Given the description of an element on the screen output the (x, y) to click on. 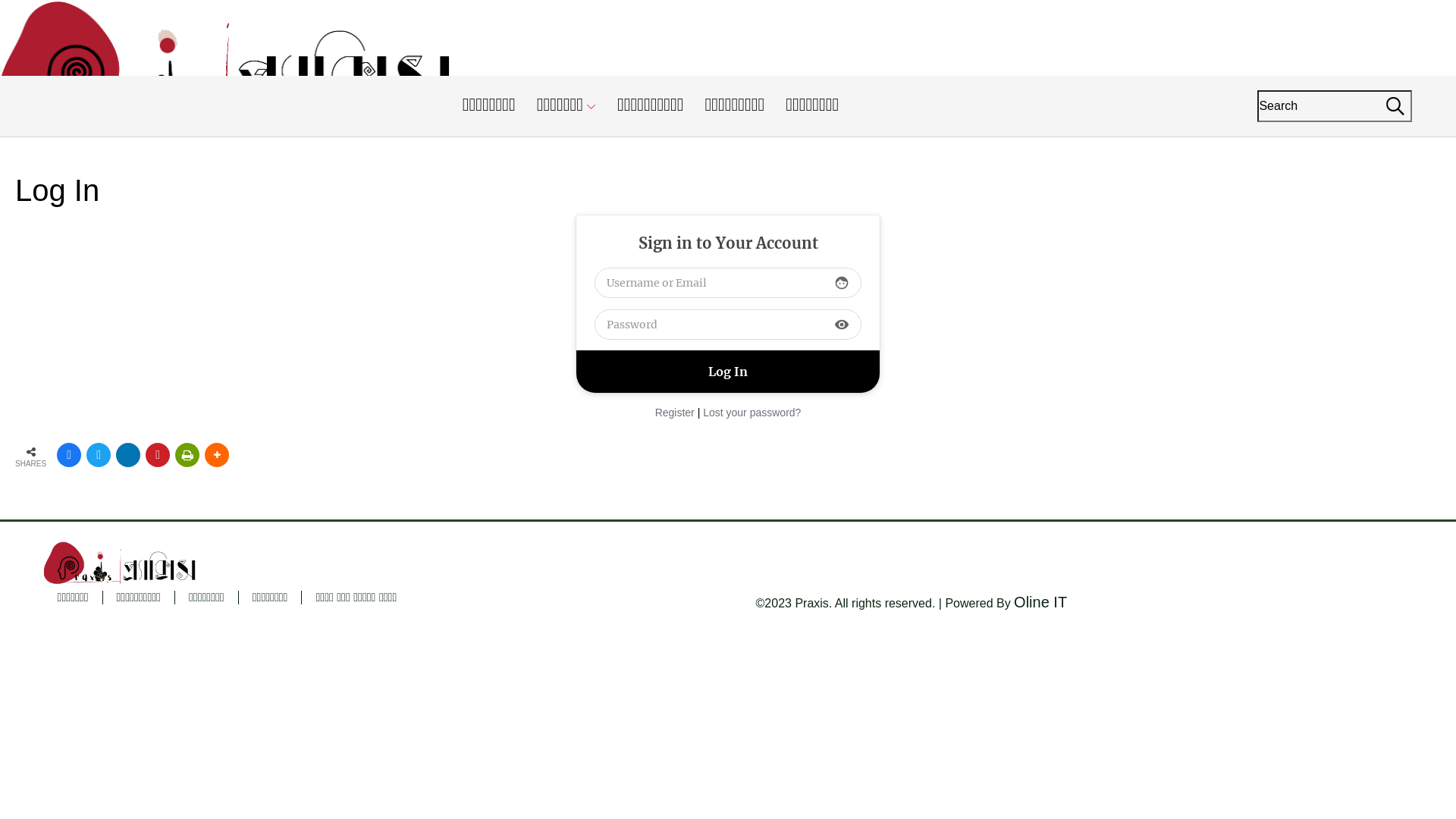
Username Element type: hover (727, 282)
More share links Element type: hover (216, 454)
Submit this to Pinterest Element type: hover (157, 454)
Lost your password? Element type: text (751, 411)
Register Element type: text (674, 411)
Add this to LinkedIn Element type: hover (128, 454)
Share this on Facebook Element type: hover (68, 454)
Oline IT Element type: text (1039, 601)
Password Element type: hover (727, 324)
Tweet this ! Element type: hover (98, 454)
Log In Element type: text (727, 371)
Print this article  Element type: hover (187, 454)
